Given the description of an element on the screen output the (x, y) to click on. 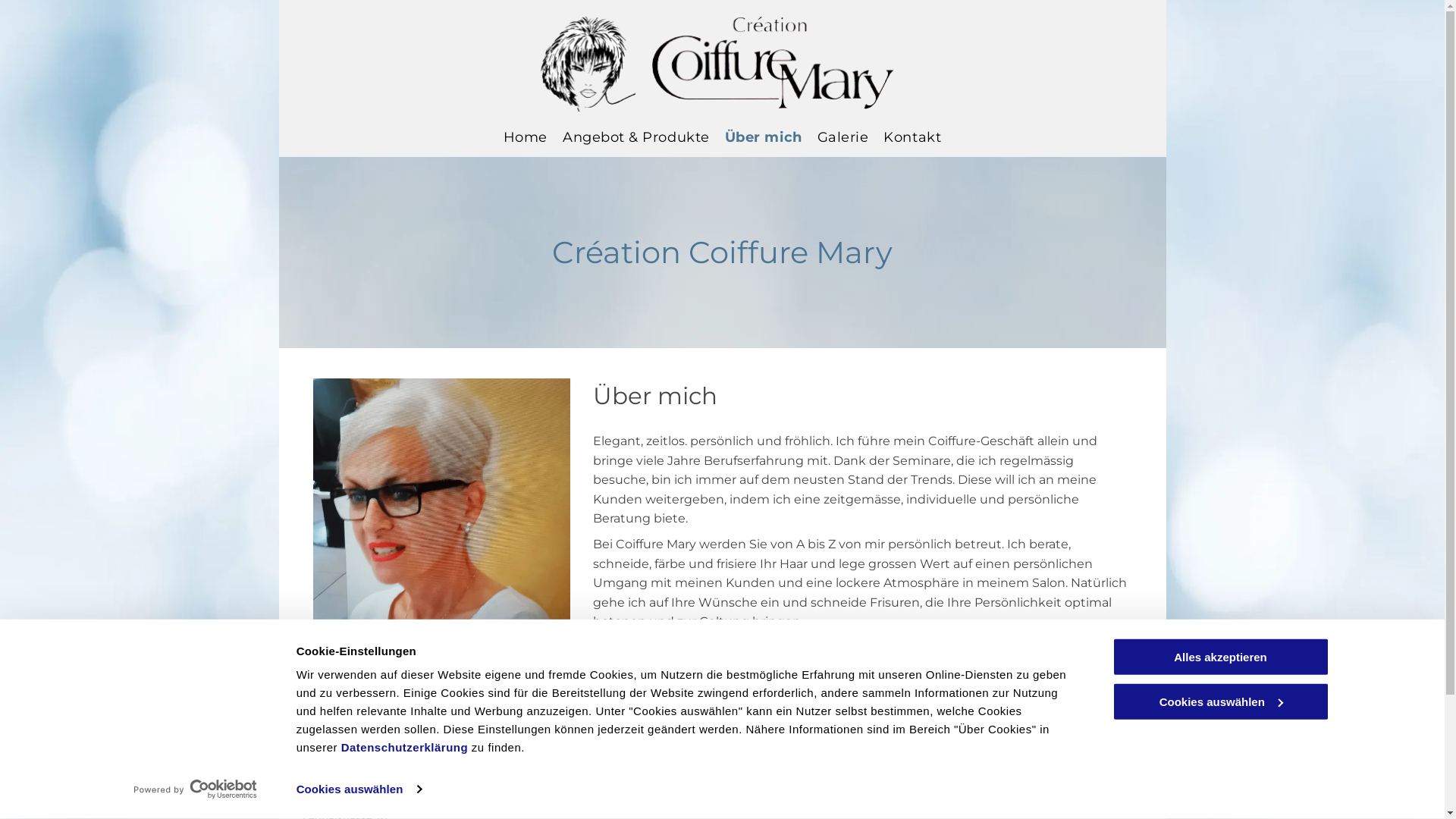
Angebot & Produkte Element type: text (636, 136)
Galerie Element type: text (842, 136)
Home Element type: text (525, 136)
Kontakt Element type: text (911, 136)
Alles akzeptieren Element type: text (1219, 656)
Impressum Element type: text (1109, 781)
044 940 63 63 Element type: text (553, 802)
